Given the description of an element on the screen output the (x, y) to click on. 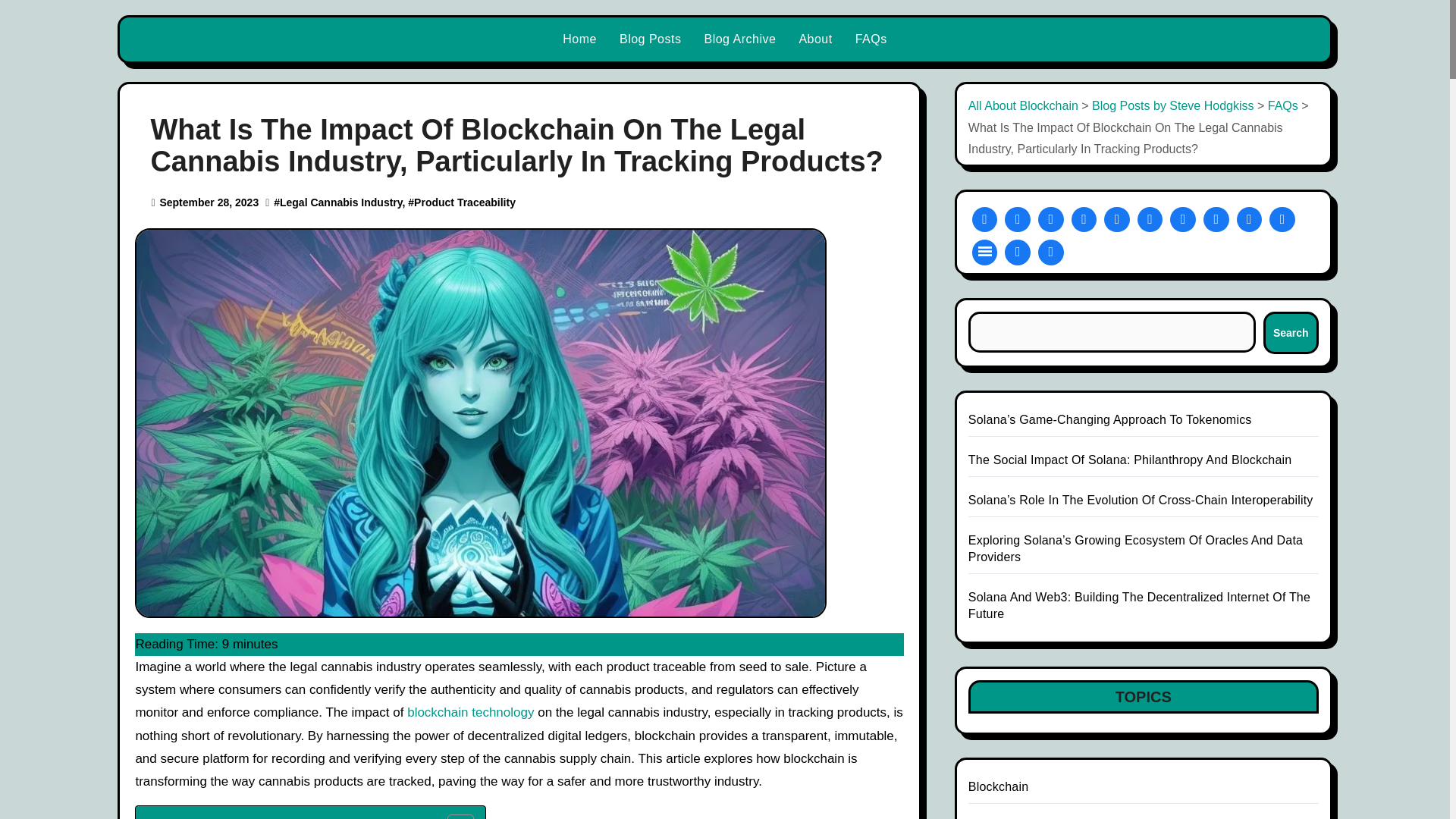
Blog Posts (650, 39)
About (815, 39)
blockchain technology (470, 712)
Home (579, 39)
Product Traceability (464, 202)
blockchain technology (470, 712)
Home (579, 39)
About (815, 39)
Blog Archive (740, 39)
September 28, 2023 (208, 202)
Blog Archive (740, 39)
Blog Posts (650, 39)
FAQs (871, 39)
FAQs (871, 39)
